Given the description of an element on the screen output the (x, y) to click on. 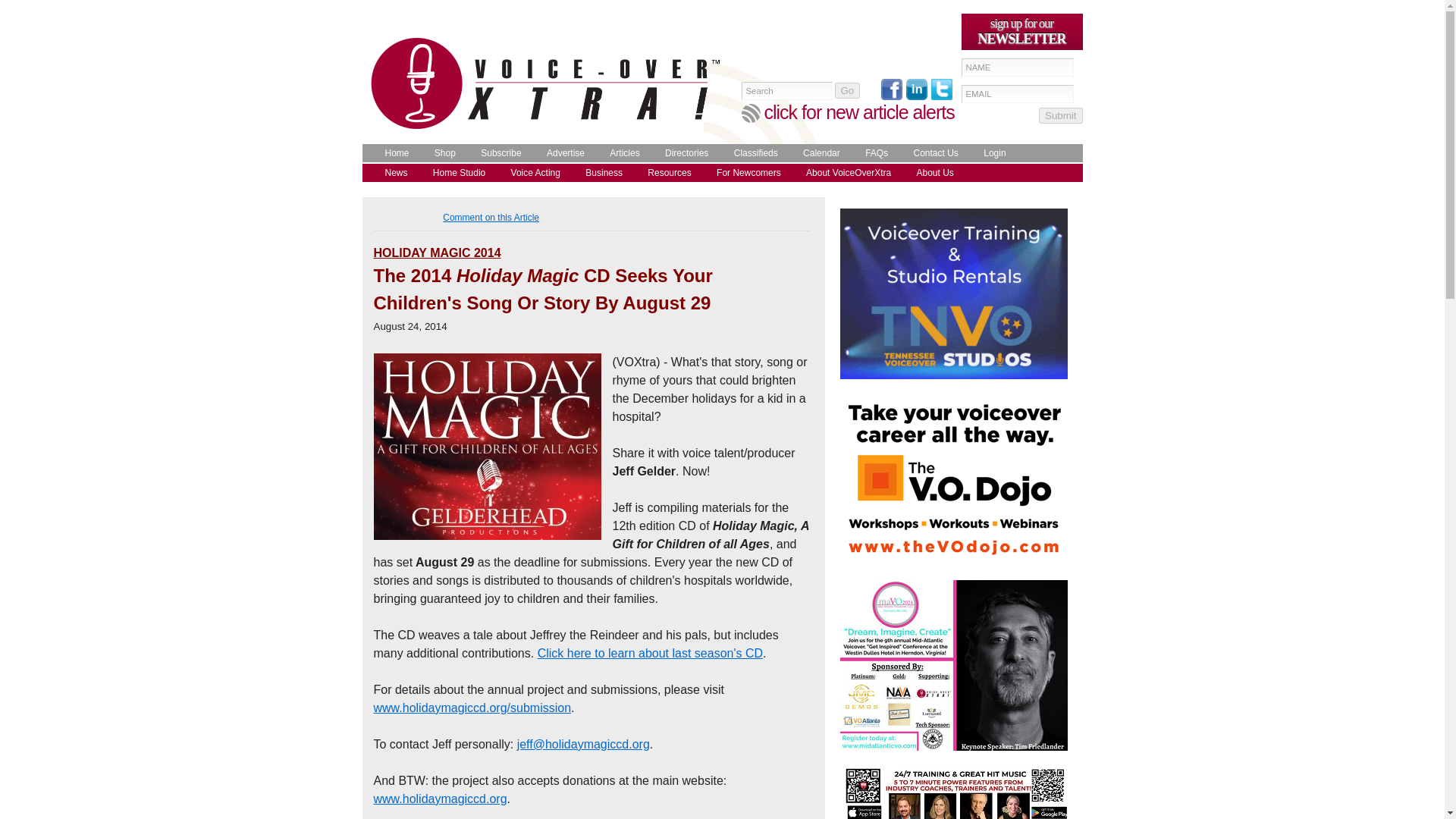
Classifieds (751, 152)
Subscribe (497, 152)
www.holidaymagiccd.org (439, 798)
Shop (440, 152)
Comment on this Article (490, 217)
Home (393, 152)
Search (786, 90)
Advertise (561, 152)
click for new article alerts (859, 111)
FAQs (872, 152)
NAME (1017, 67)
About VoiceOverXtra (844, 172)
Login (990, 152)
Business (600, 172)
Submit (1060, 115)
